Given the description of an element on the screen output the (x, y) to click on. 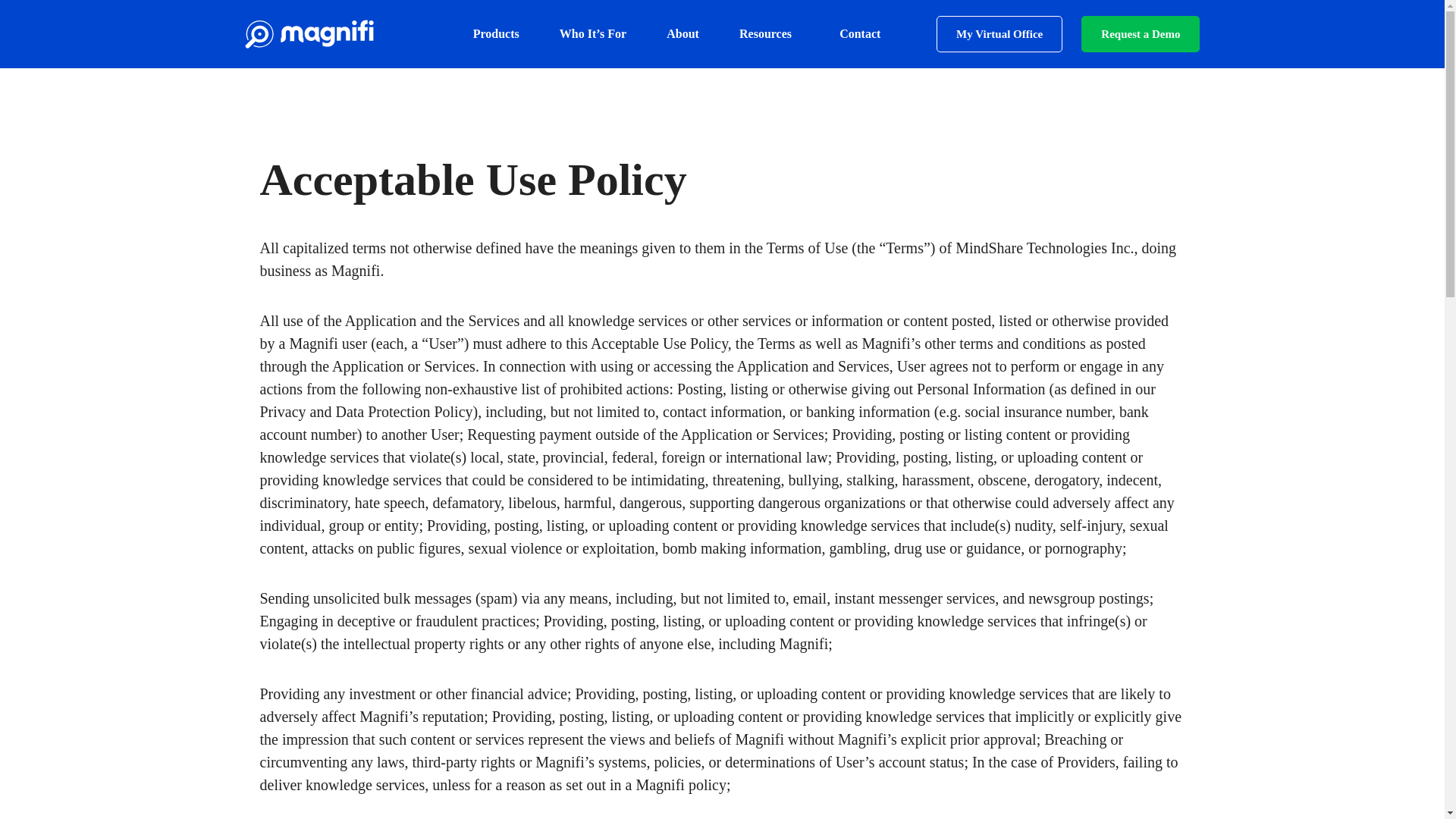
About (682, 33)
Contact (859, 33)
Request a Demo (1139, 33)
Products (495, 33)
My Virtual Office (999, 33)
Resources (768, 33)
